Given the description of an element on the screen output the (x, y) to click on. 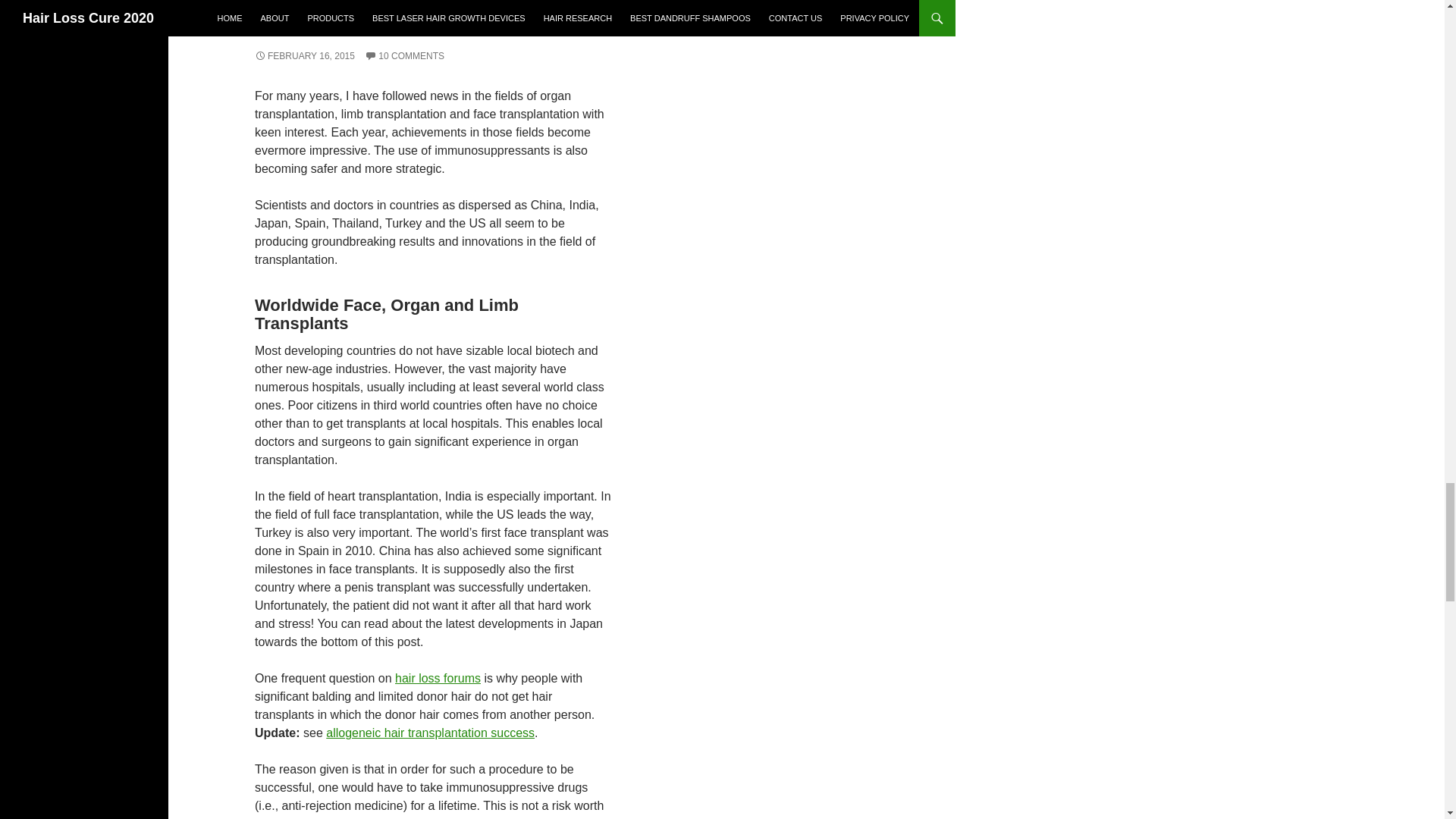
FEBRUARY 16, 2015 (304, 55)
IMMUNOSUPPRESSANTS AND FACE AND ORGAN TRANSPLANTS (408, 20)
10 COMMENTS (404, 55)
hair loss forums (437, 677)
